Given the description of an element on the screen output the (x, y) to click on. 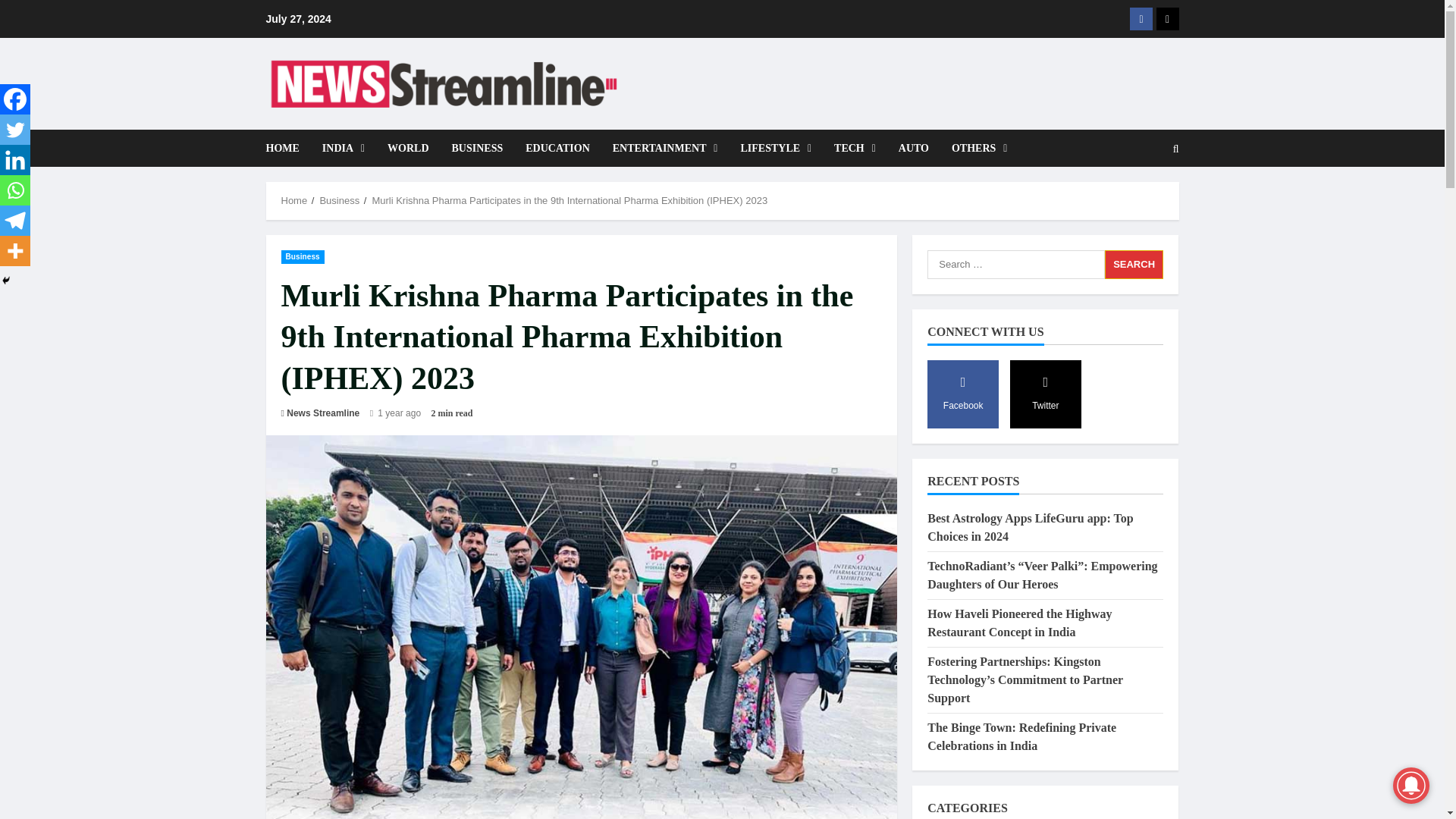
Twitter (1166, 18)
OTHERS (973, 148)
INDIA (343, 148)
Twitter (15, 129)
HOME (287, 148)
Search (1176, 148)
EDUCATION (557, 148)
Facebook (15, 99)
Search (1139, 199)
Facebook (1141, 18)
TECH (854, 148)
Search (1134, 264)
AUTO (913, 148)
Search (1134, 264)
